Given the description of an element on the screen output the (x, y) to click on. 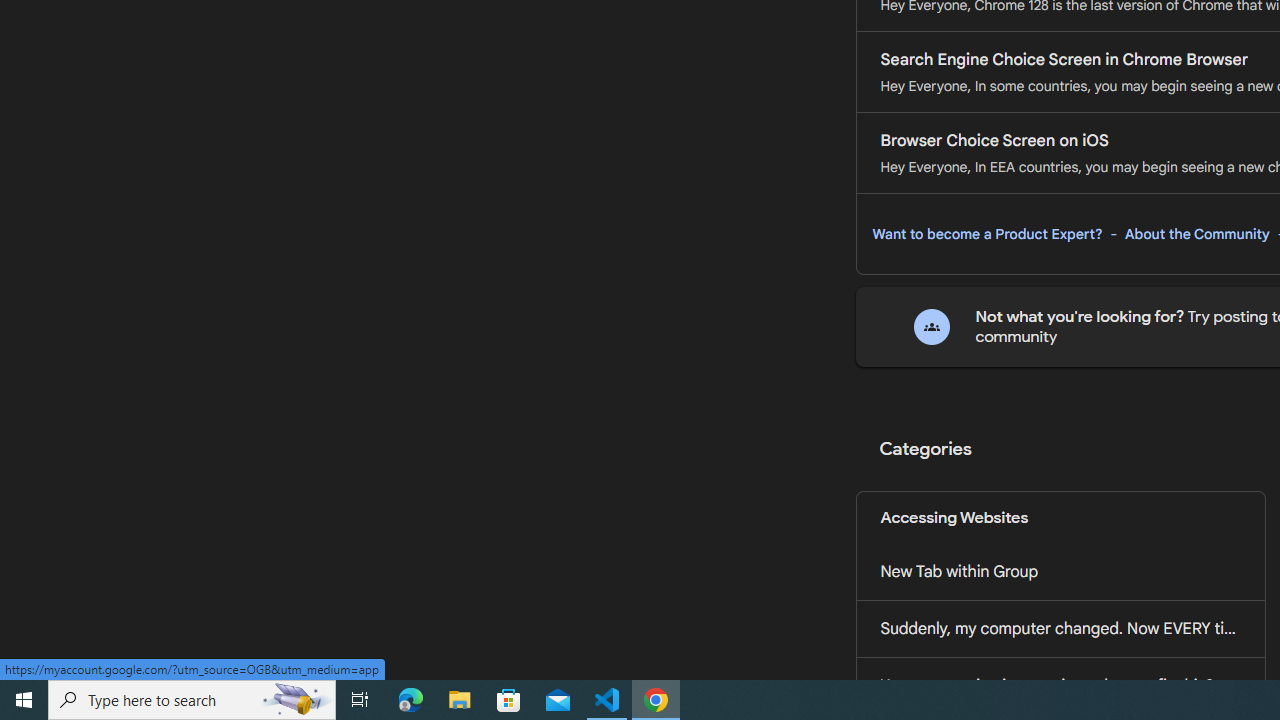
About the Community (1197, 233)
Want to become a Product Expert? (987, 233)
